Given the description of an element on the screen output the (x, y) to click on. 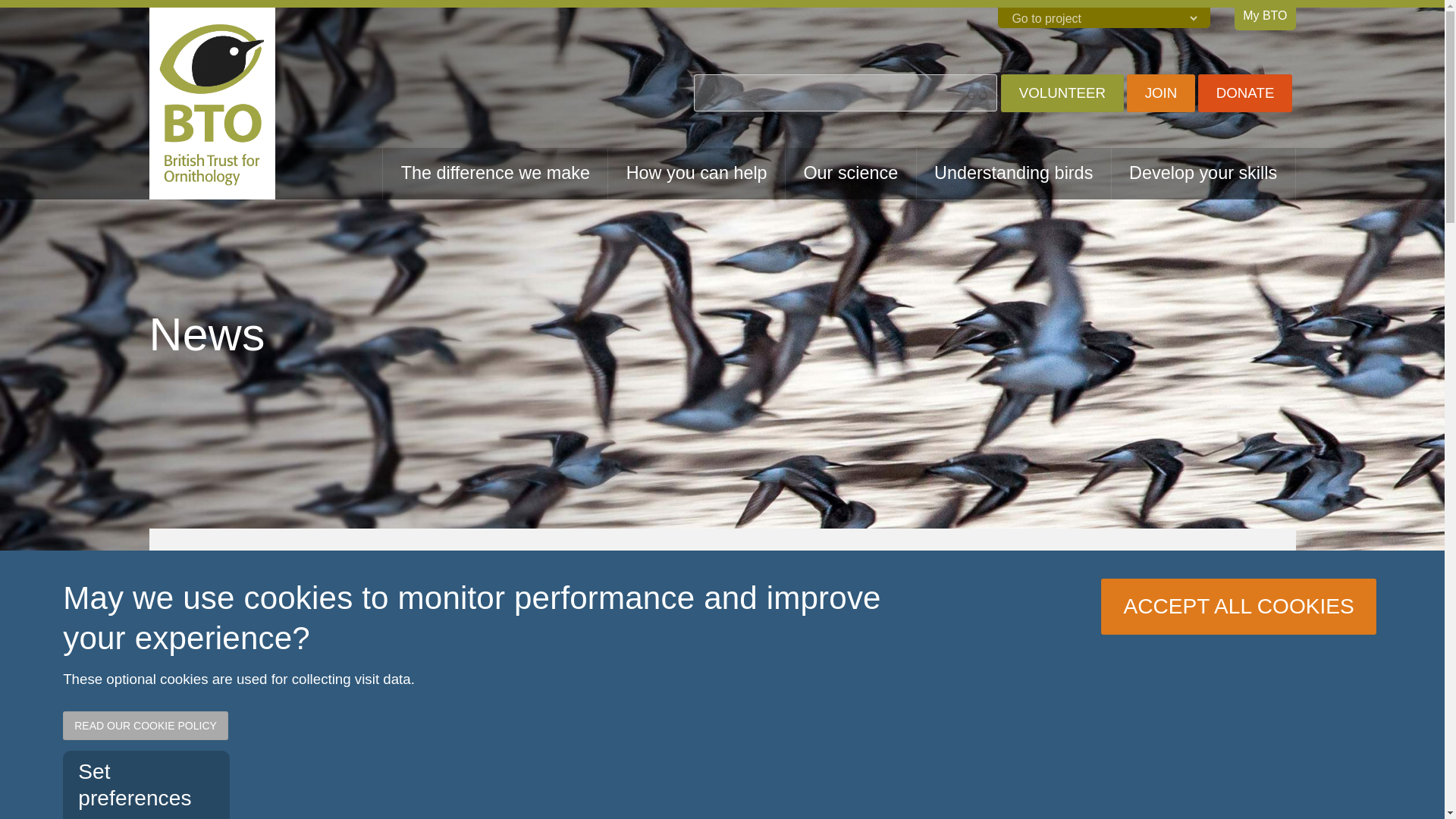
DONATE (1244, 93)
The difference we make (494, 173)
Our science (850, 173)
Events (286, 712)
Apply (976, 91)
red sixty seven banner (1064, 764)
Go (21, 15)
READ OUR COOKIE POLICY (145, 725)
Apply (976, 91)
